Given the description of an element on the screen output the (x, y) to click on. 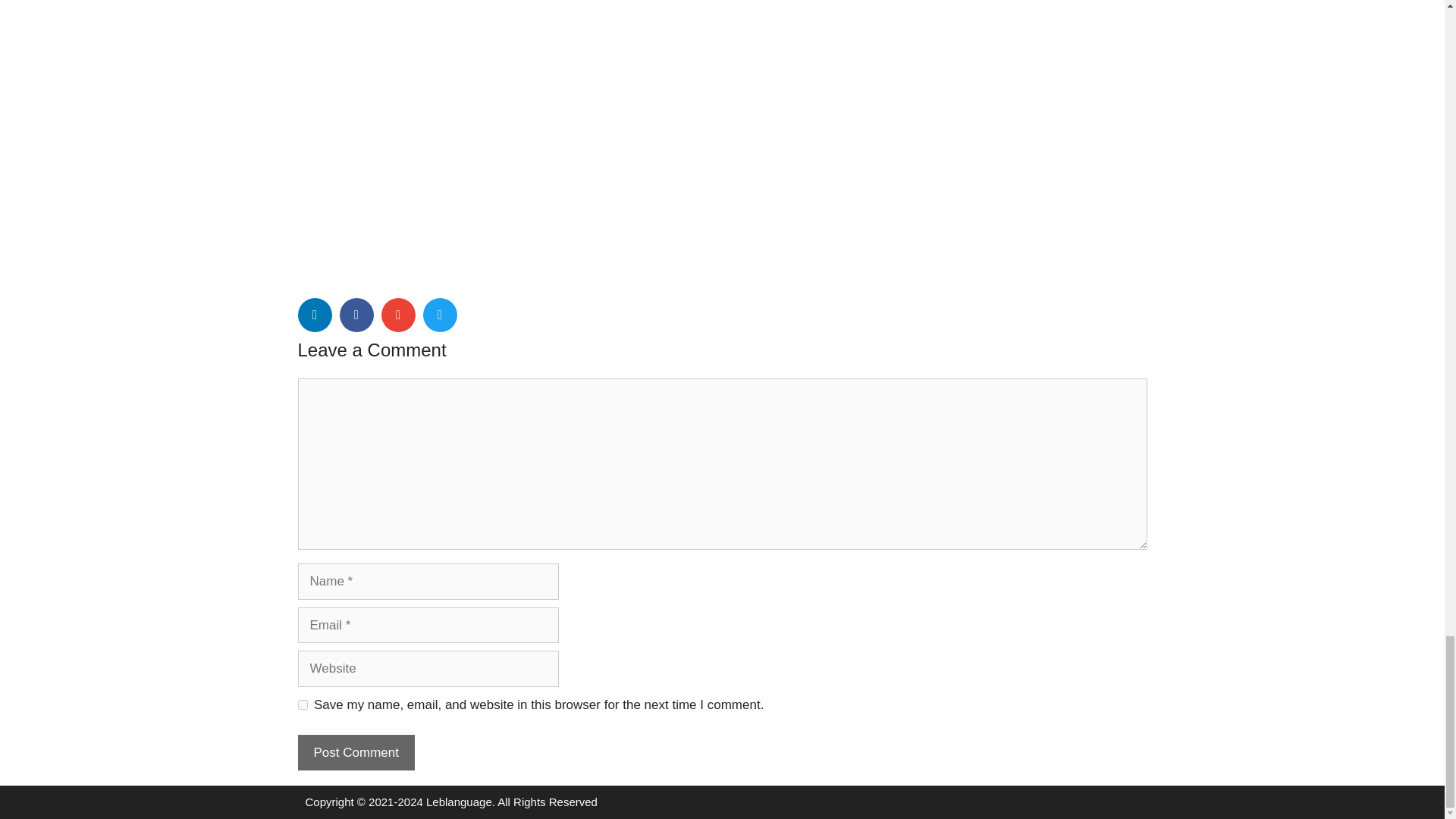
Post Comment (355, 752)
yes (302, 705)
Post Comment (355, 752)
